Given the description of an element on the screen output the (x, y) to click on. 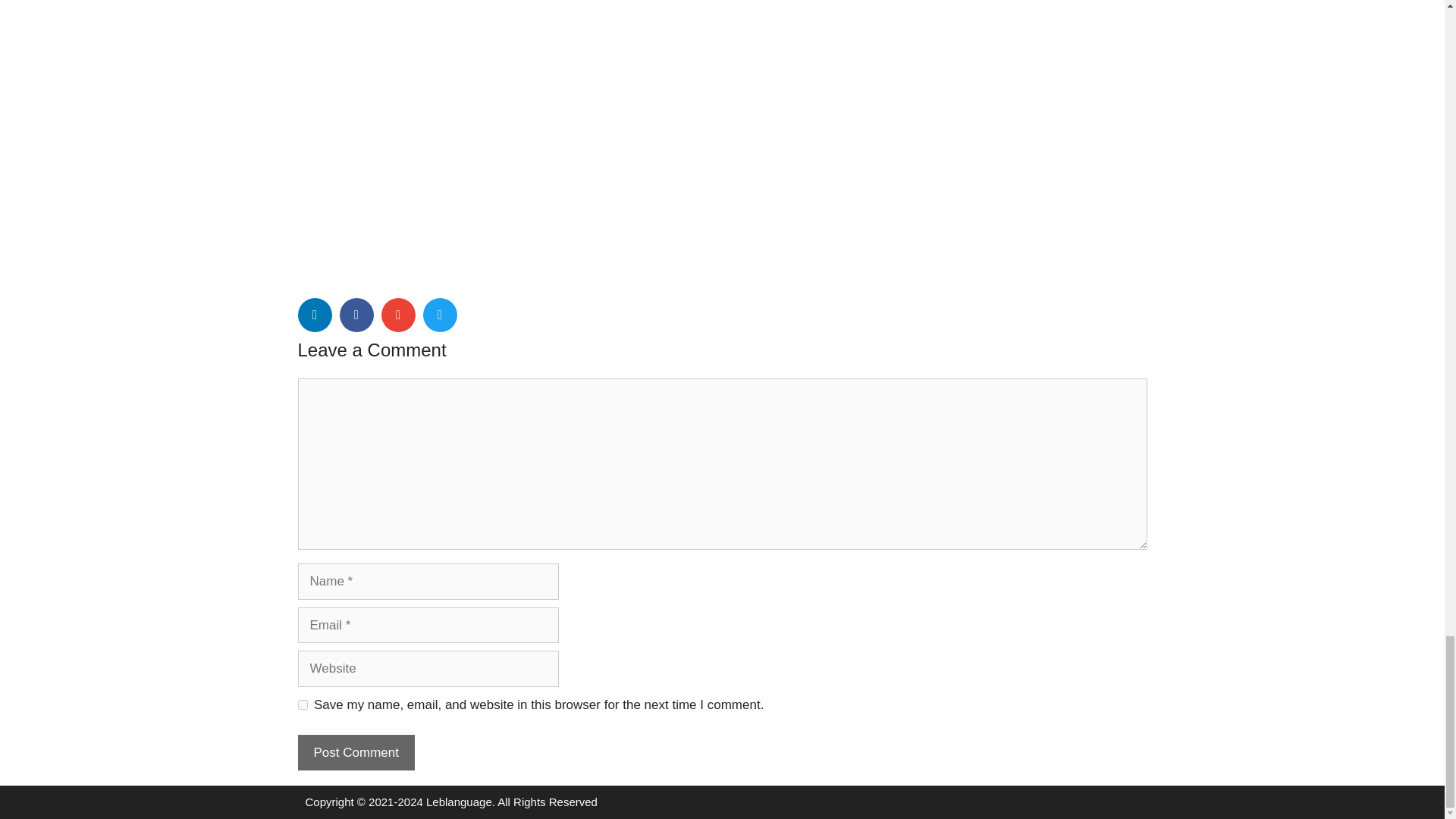
Post Comment (355, 752)
yes (302, 705)
Post Comment (355, 752)
